Given the description of an element on the screen output the (x, y) to click on. 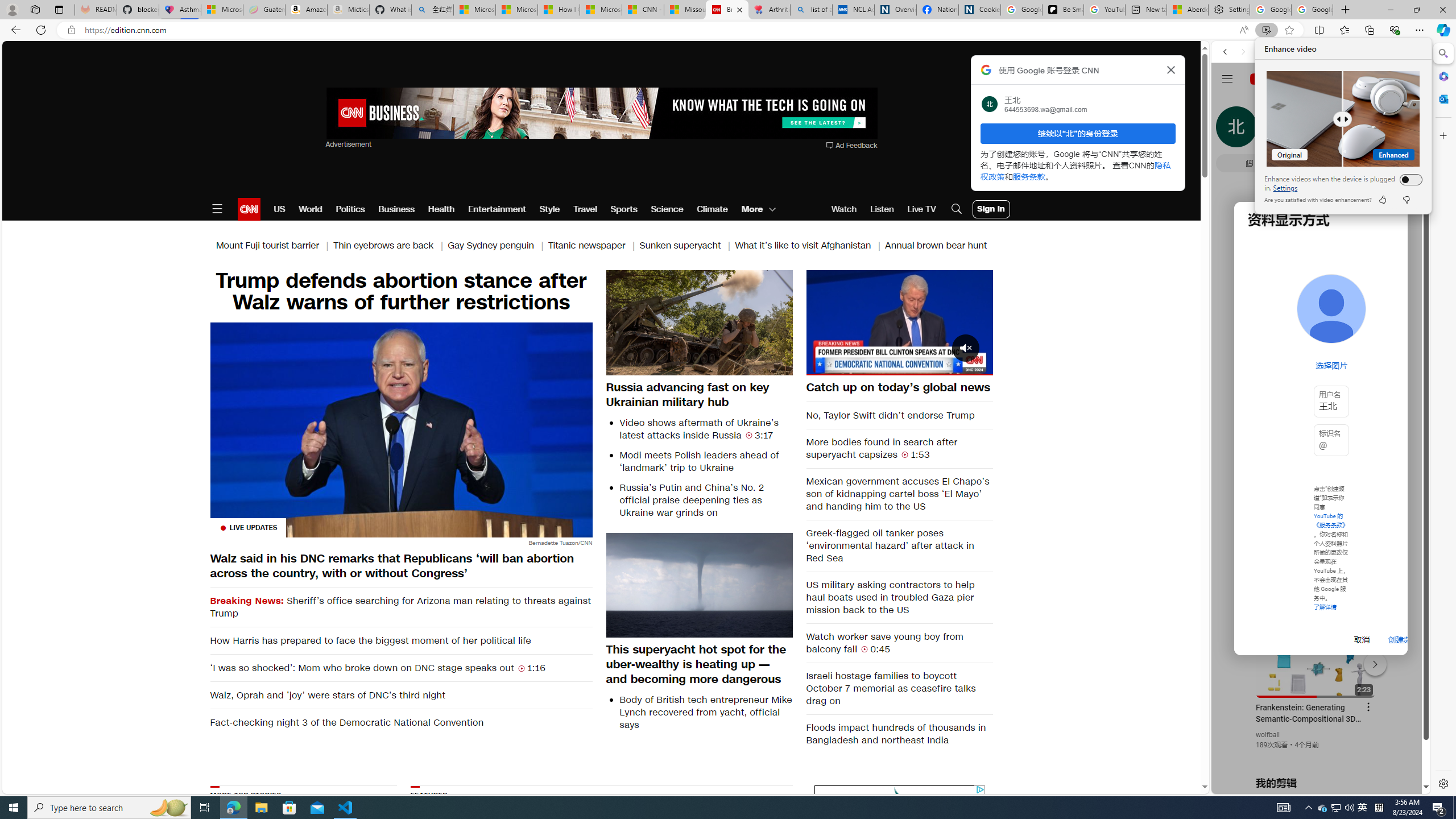
Fullscreen (976, 365)
Live TV (921, 208)
Visual Studio Code - 1 running window (345, 807)
Microsoft Store (289, 807)
Unmute (821, 365)
Options (952, 365)
Backward 10 seconds (864, 322)
like (1382, 199)
